Given the description of an element on the screen output the (x, y) to click on. 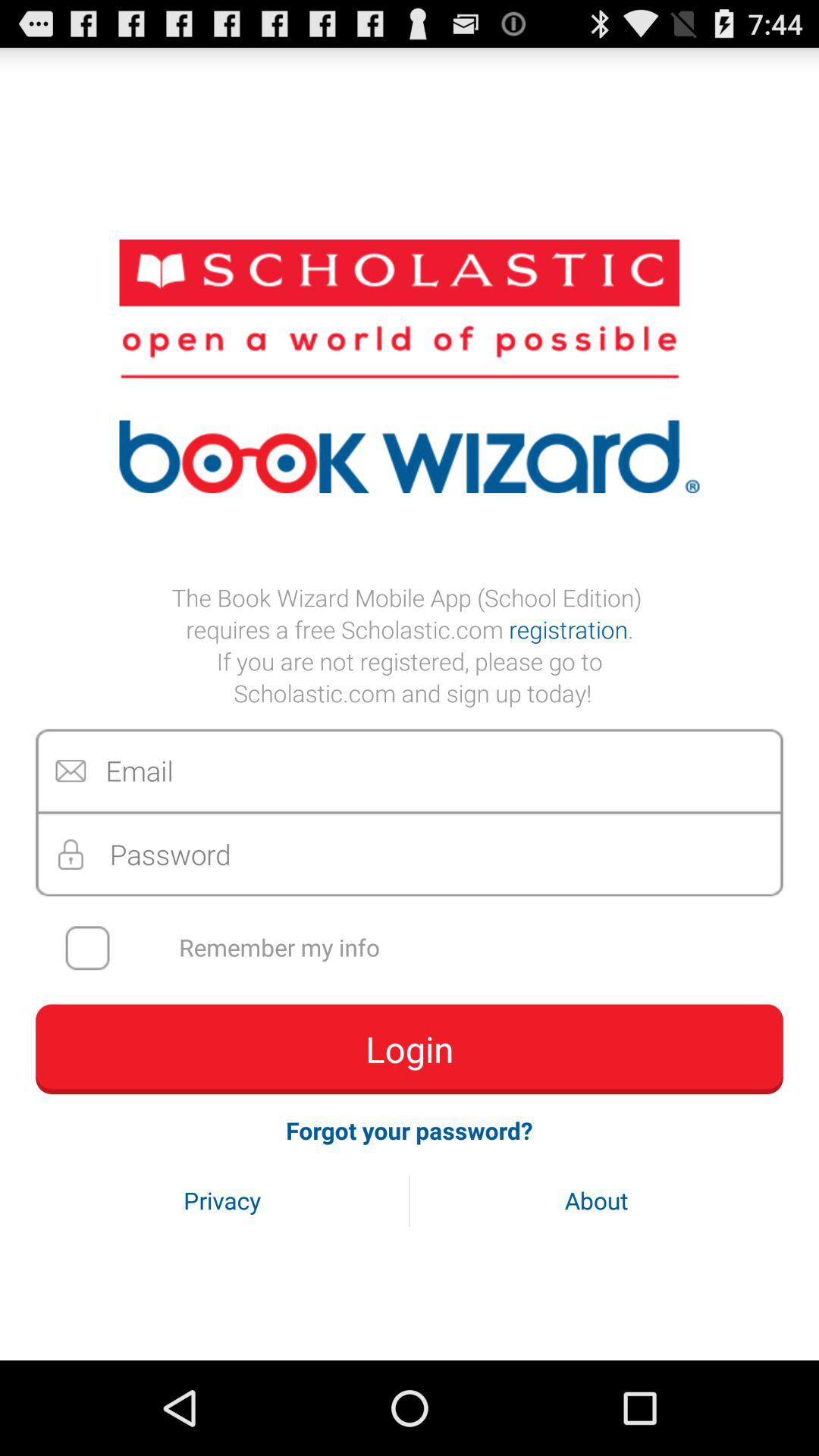
password box (409, 854)
